Given the description of an element on the screen output the (x, y) to click on. 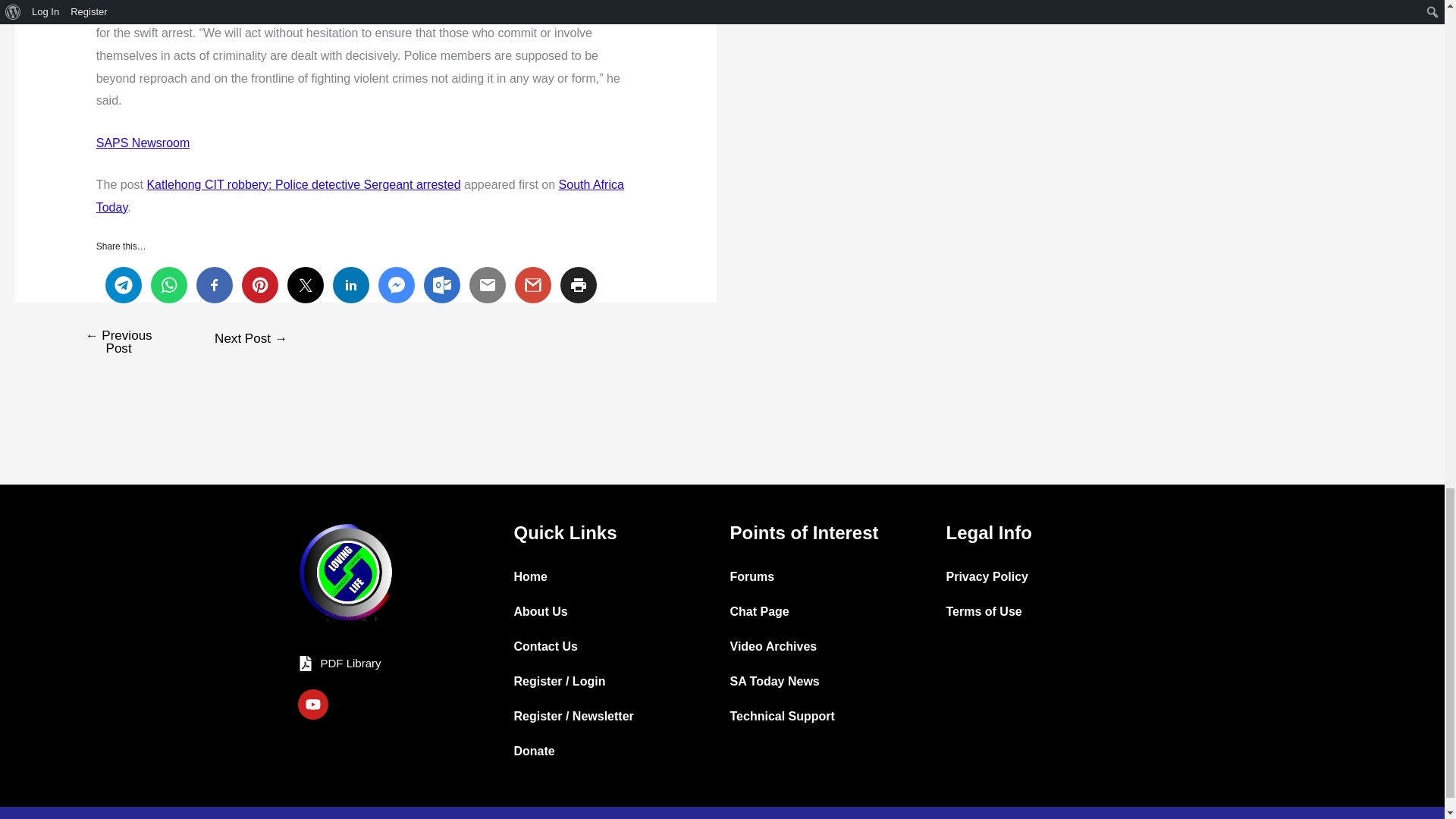
South Africa Today (360, 195)
SAPS Newsroom (143, 142)
Katlehong CIT robbery: Police detective Sergeant arrested (303, 184)
